Given the description of an element on the screen output the (x, y) to click on. 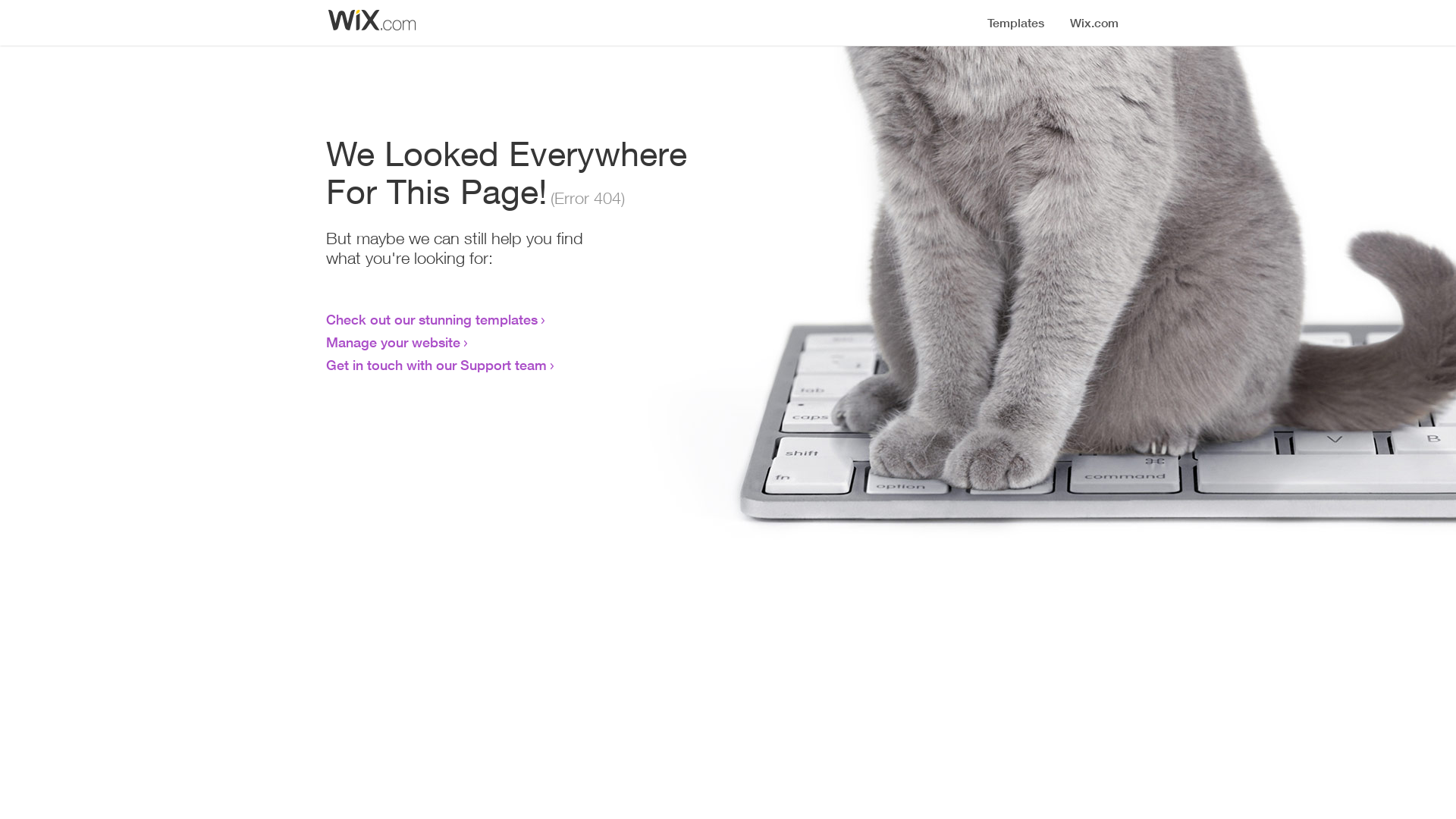
Check out our stunning templates Element type: text (431, 318)
Manage your website Element type: text (393, 341)
Get in touch with our Support team Element type: text (436, 364)
